Given the description of an element on the screen output the (x, y) to click on. 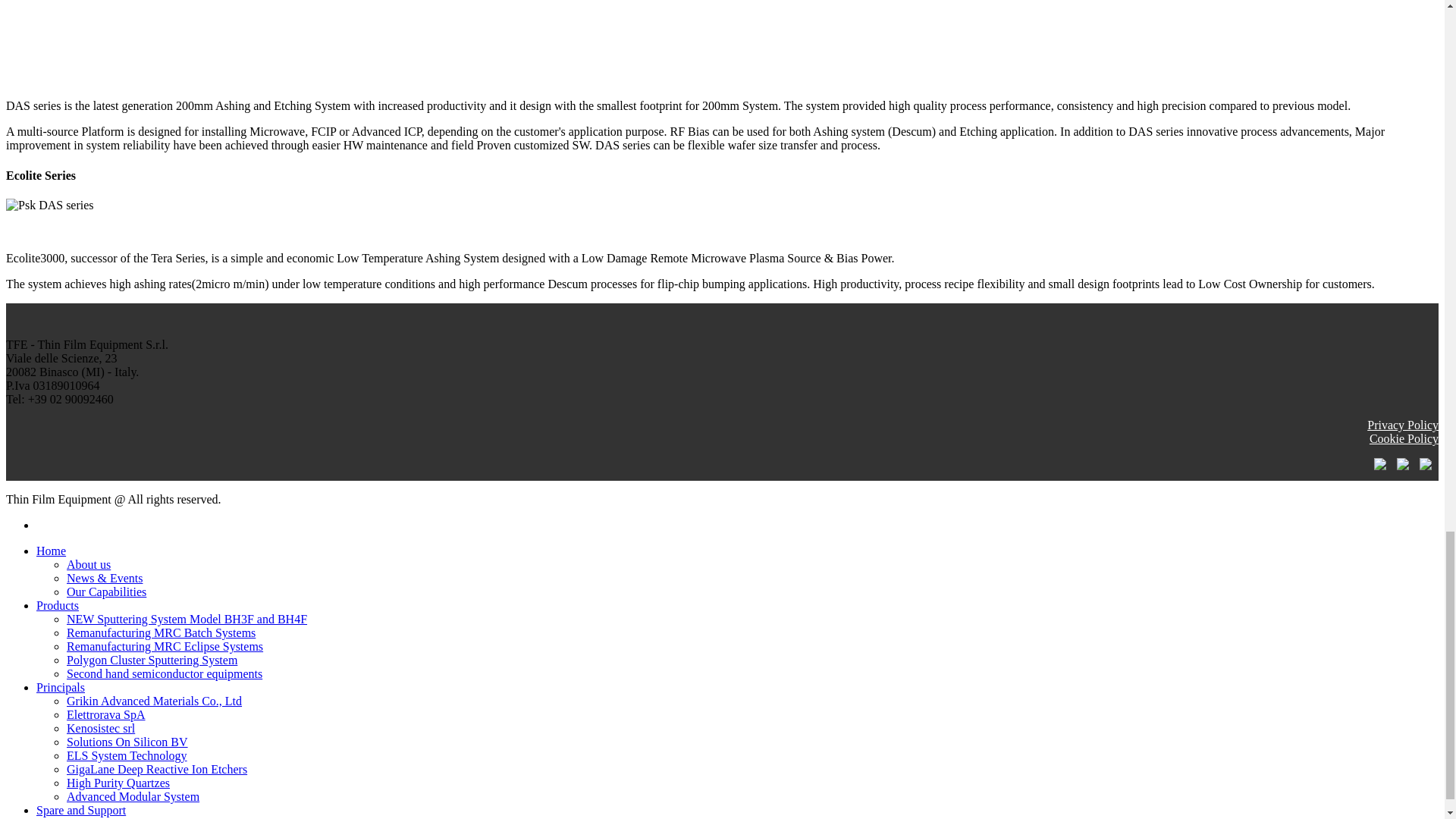
Our Capabilities (106, 591)
Products (57, 604)
About us (88, 563)
Home (50, 550)
NEW Sputtering System Model BH3F and BH4F (186, 618)
